Given the description of an element on the screen output the (x, y) to click on. 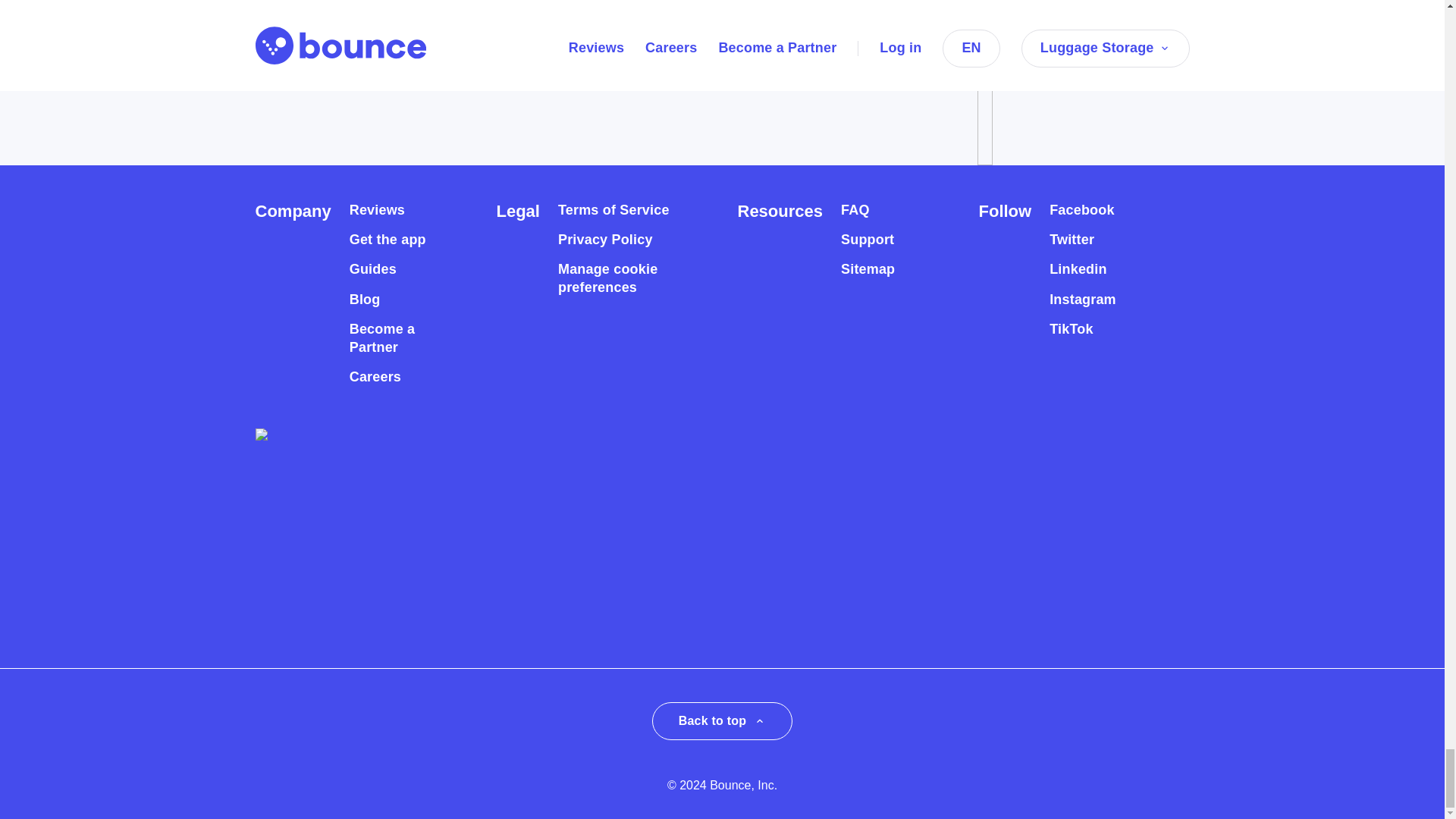
Download (321, 31)
Manage cookie preferences (619, 278)
Become a Partner (395, 338)
Reviews (376, 210)
Privacy Policy (604, 239)
Terms of Service (613, 210)
Careers (375, 376)
Guides (372, 269)
Blog (364, 299)
Get the app (387, 239)
